Given the description of an element on the screen output the (x, y) to click on. 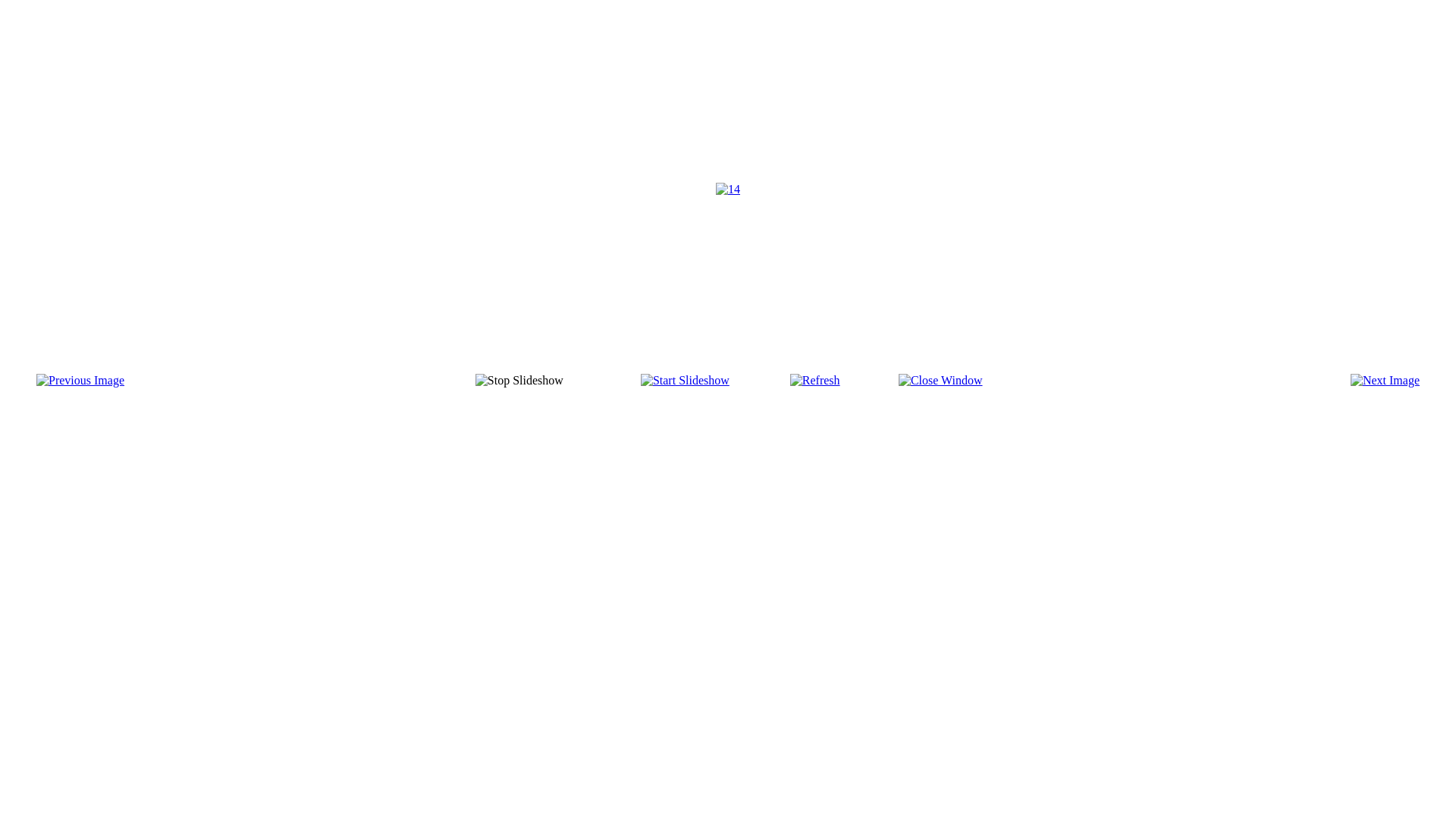
Start Slideshow Element type: hover (684, 379)
Previous Image Element type: hover (80, 379)
Next Image Element type: hover (1384, 379)
Refresh Element type: hover (815, 379)
Close Window Element type: hover (940, 379)
